Given the description of an element on the screen output the (x, y) to click on. 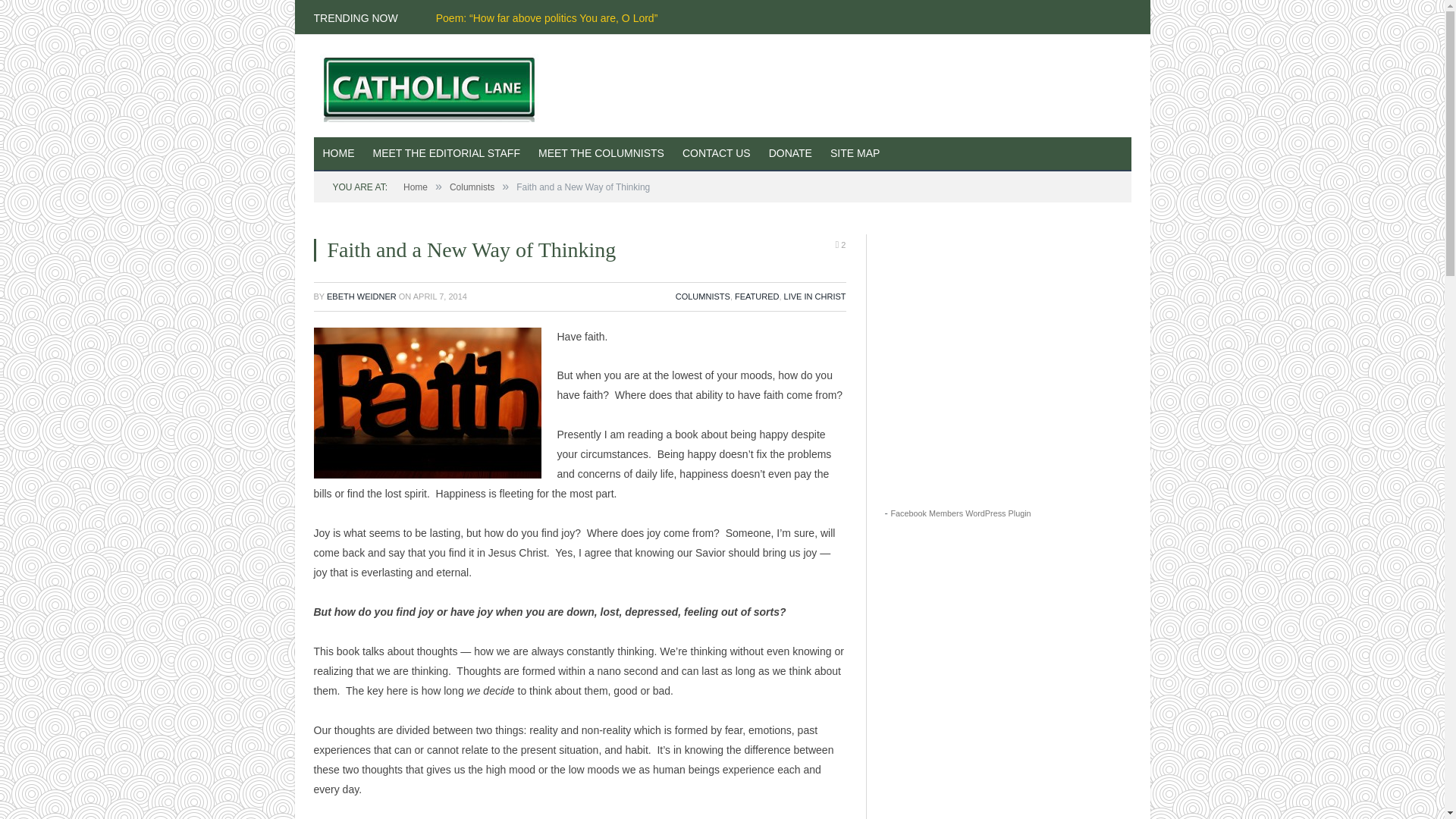
CONTACT US (716, 154)
HOME (339, 154)
MEET THE COLUMNISTS (600, 154)
Catholic Lane (435, 85)
COLUMNISTS (702, 296)
DONATE (790, 154)
Columnists (600, 154)
MEET THE EDITORIAL STAFF (446, 154)
Home (415, 186)
FEATURED (756, 296)
Posts by Ebeth Weidner (361, 296)
Editors (446, 154)
SITE MAP (854, 154)
LIVE IN CHRIST (814, 296)
Columnists (472, 186)
